Given the description of an element on the screen output the (x, y) to click on. 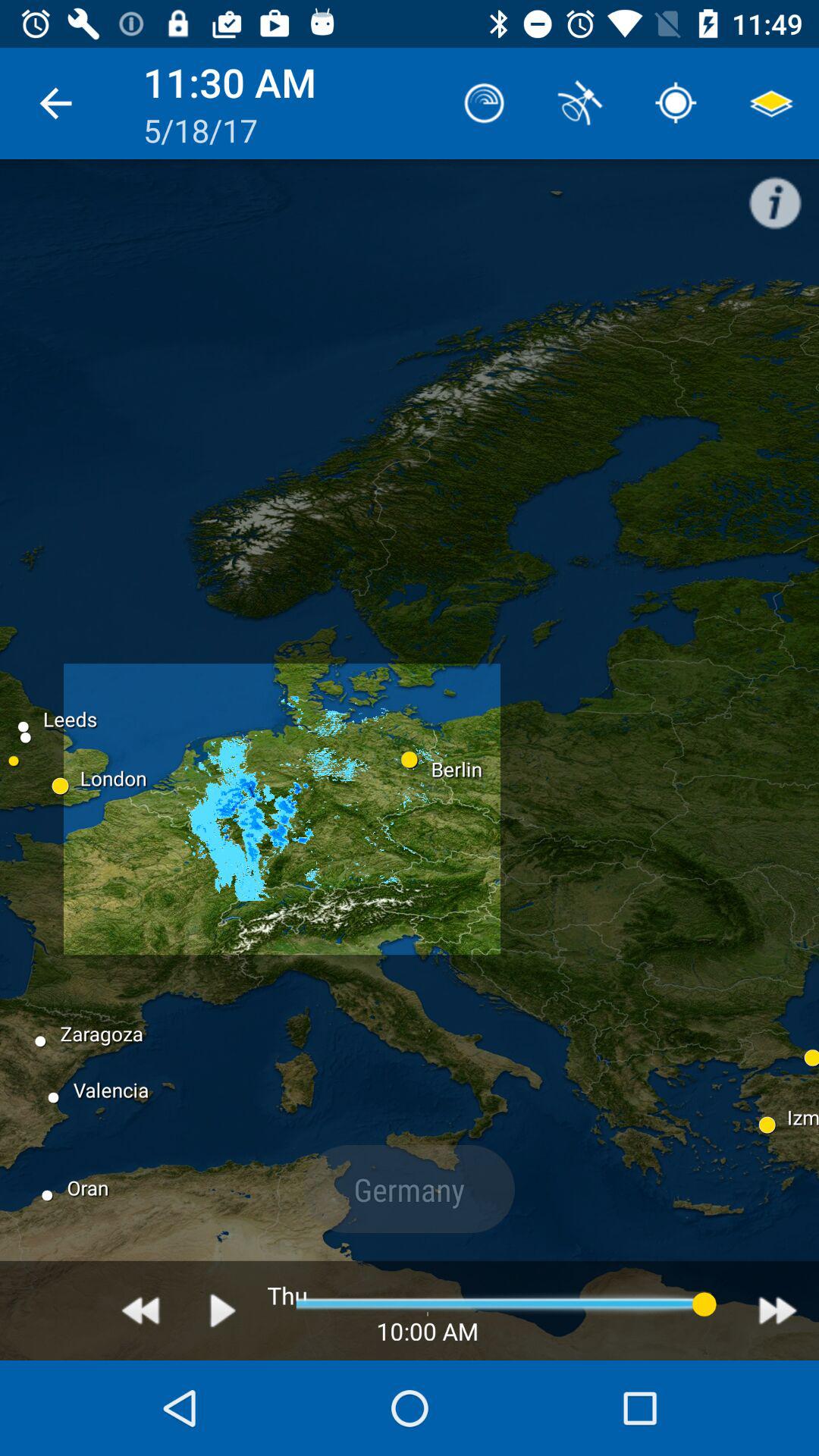
open icon to the right of 11:30 am icon (484, 103)
